Given the description of an element on the screen output the (x, y) to click on. 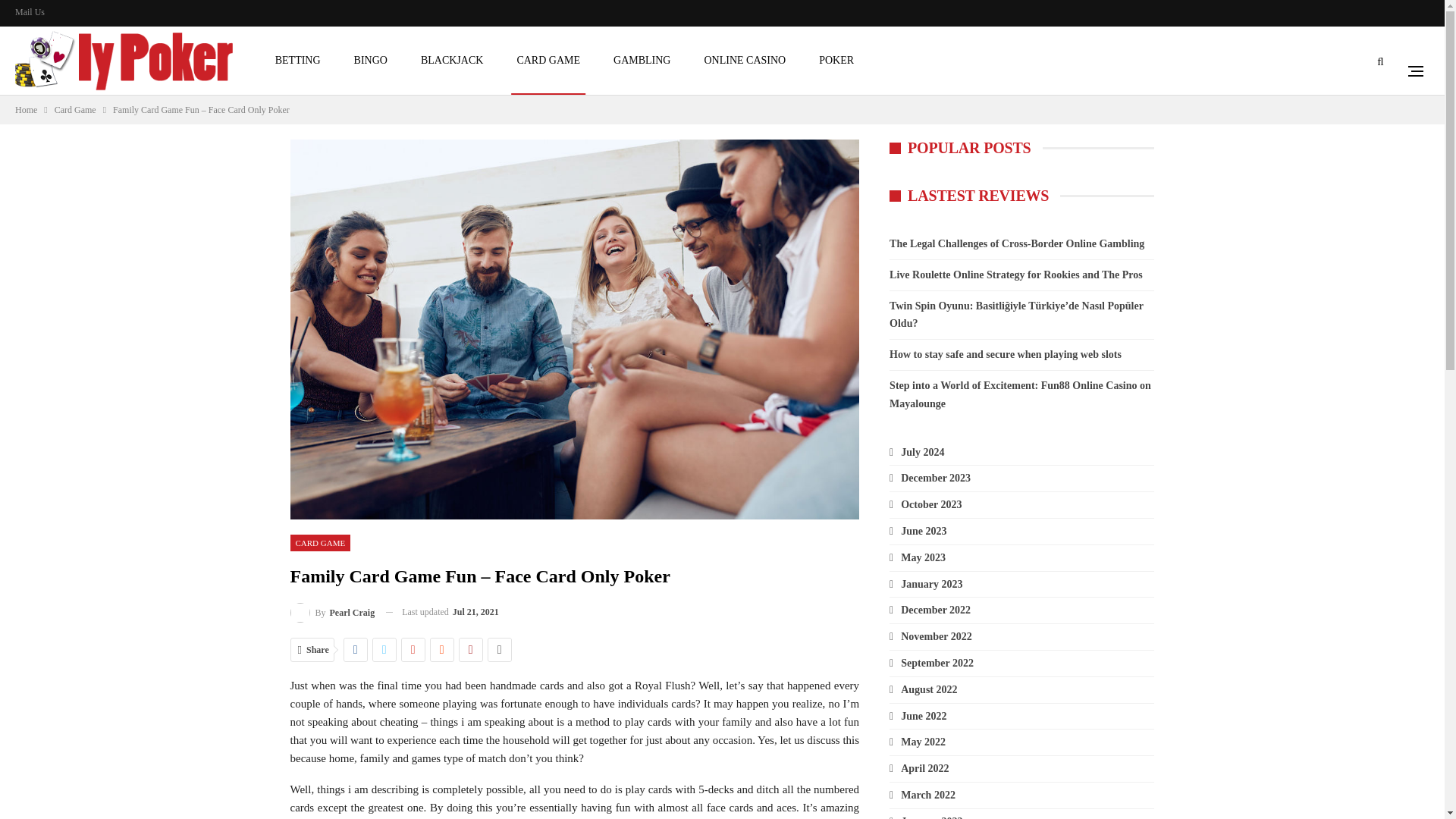
CARD GAME (548, 60)
By Pearl Craig (331, 611)
Browse Author Articles (331, 611)
Card Game (75, 109)
Mail Us (29, 11)
BLACKJACK (450, 60)
Home (25, 109)
ONLINE CASINO (744, 60)
CARD GAME (319, 543)
GAMBLING (641, 60)
